Given the description of an element on the screen output the (x, y) to click on. 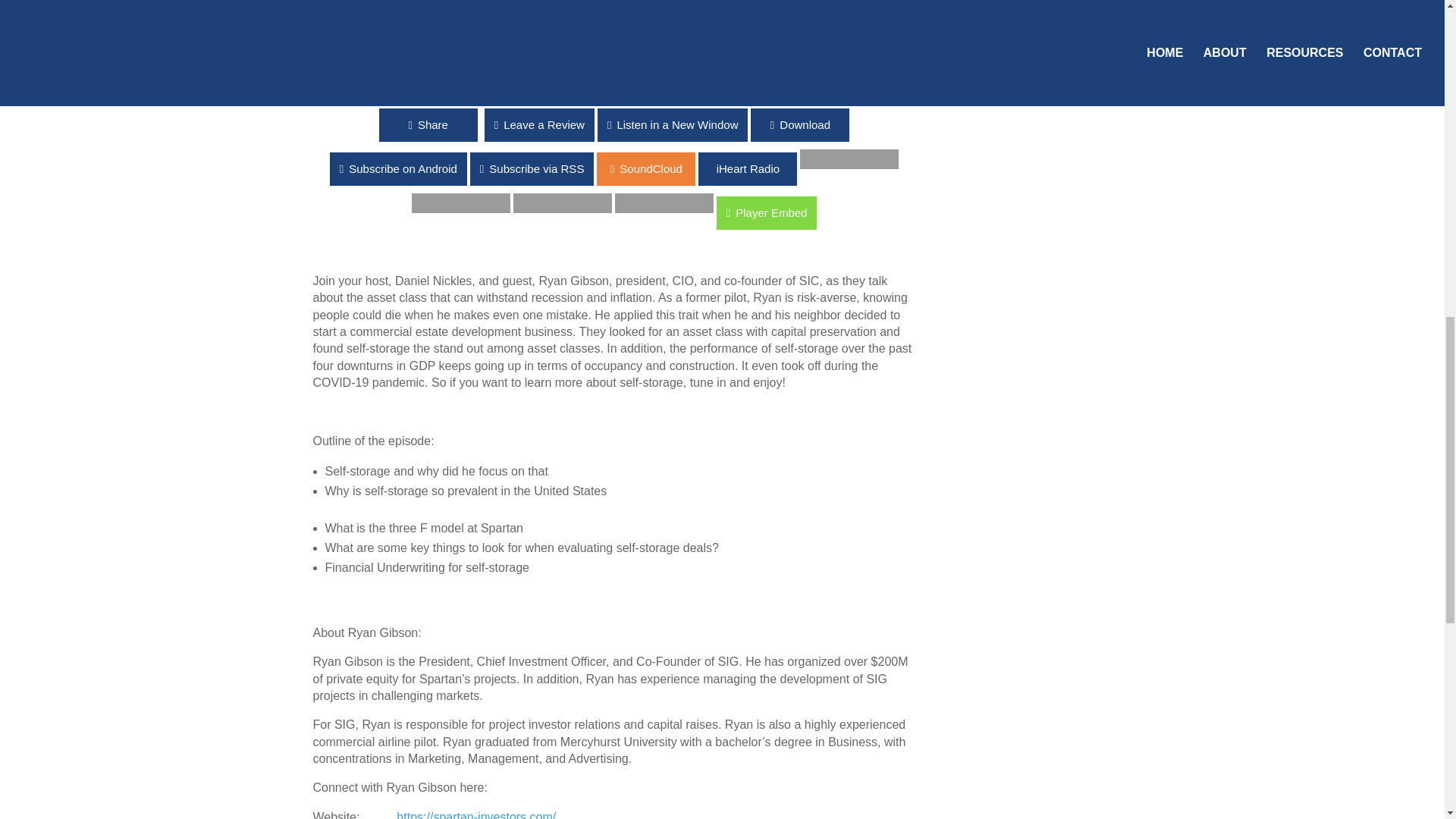
Google Podcasts (517, 83)
Apple Podcasts (402, 83)
Share (370, 124)
Spotify (728, 83)
Stitcher (627, 83)
iHeart Radio (798, 165)
SoundCloud (49, 165)
Subscribe on Android (499, 165)
Player Embed (50, 213)
Download (799, 124)
Youtube (830, 83)
Leave a Review (482, 124)
Subscribe via RSS (633, 165)
Listen in a New Window (75, 124)
